Given the description of an element on the screen output the (x, y) to click on. 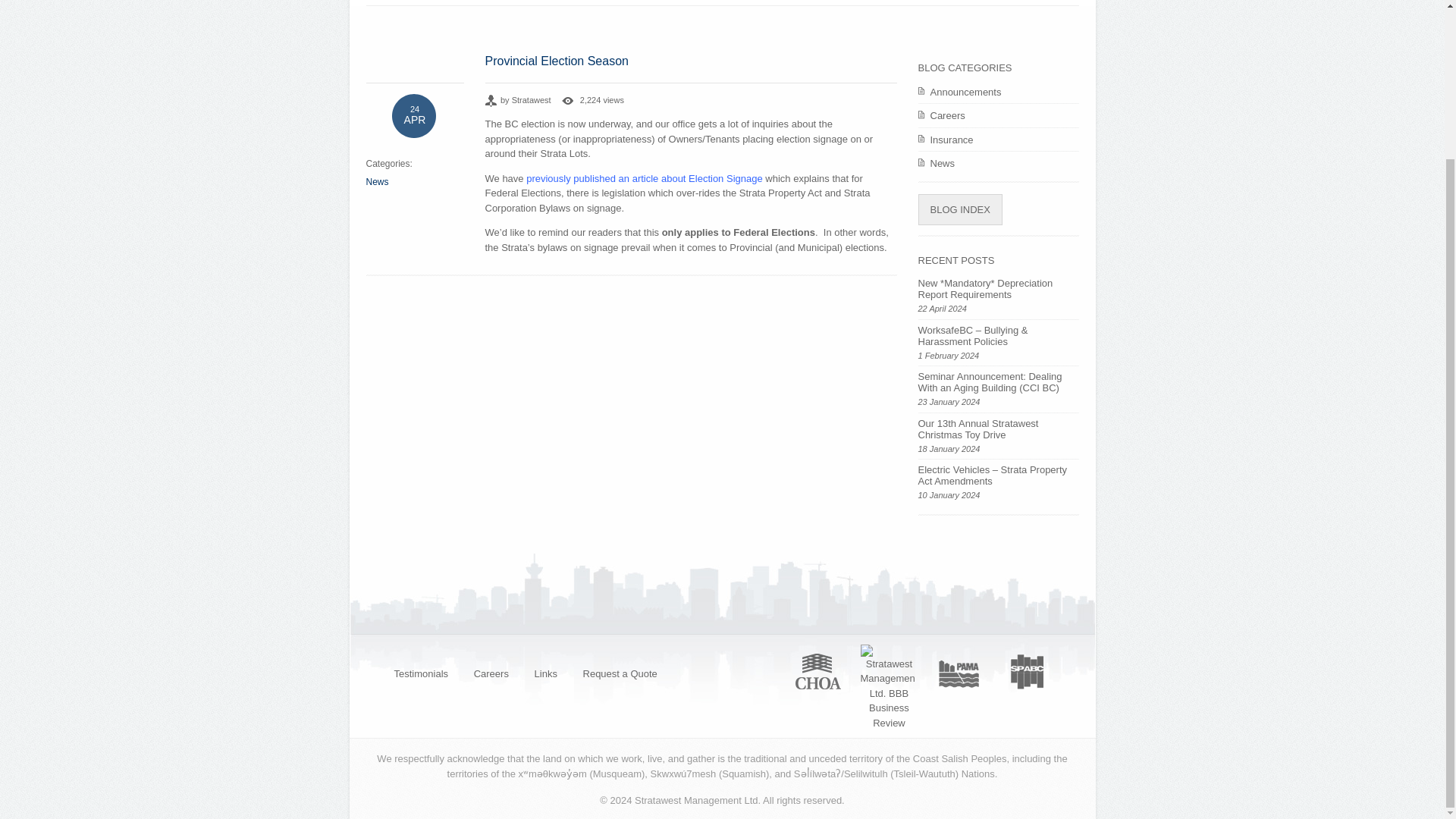
HOME (403, 2)
Careers (491, 673)
Testimonials (420, 673)
Announcements (997, 92)
Careers (997, 115)
BLOG INDEX (959, 210)
Request a Quote (620, 673)
Links (545, 673)
News (997, 163)
BLOG (737, 2)
Insurance (997, 139)
CONTACT (822, 2)
previously published an article about Election Signage  (645, 178)
SERVICES (491, 2)
News (376, 181)
